Given the description of an element on the screen output the (x, y) to click on. 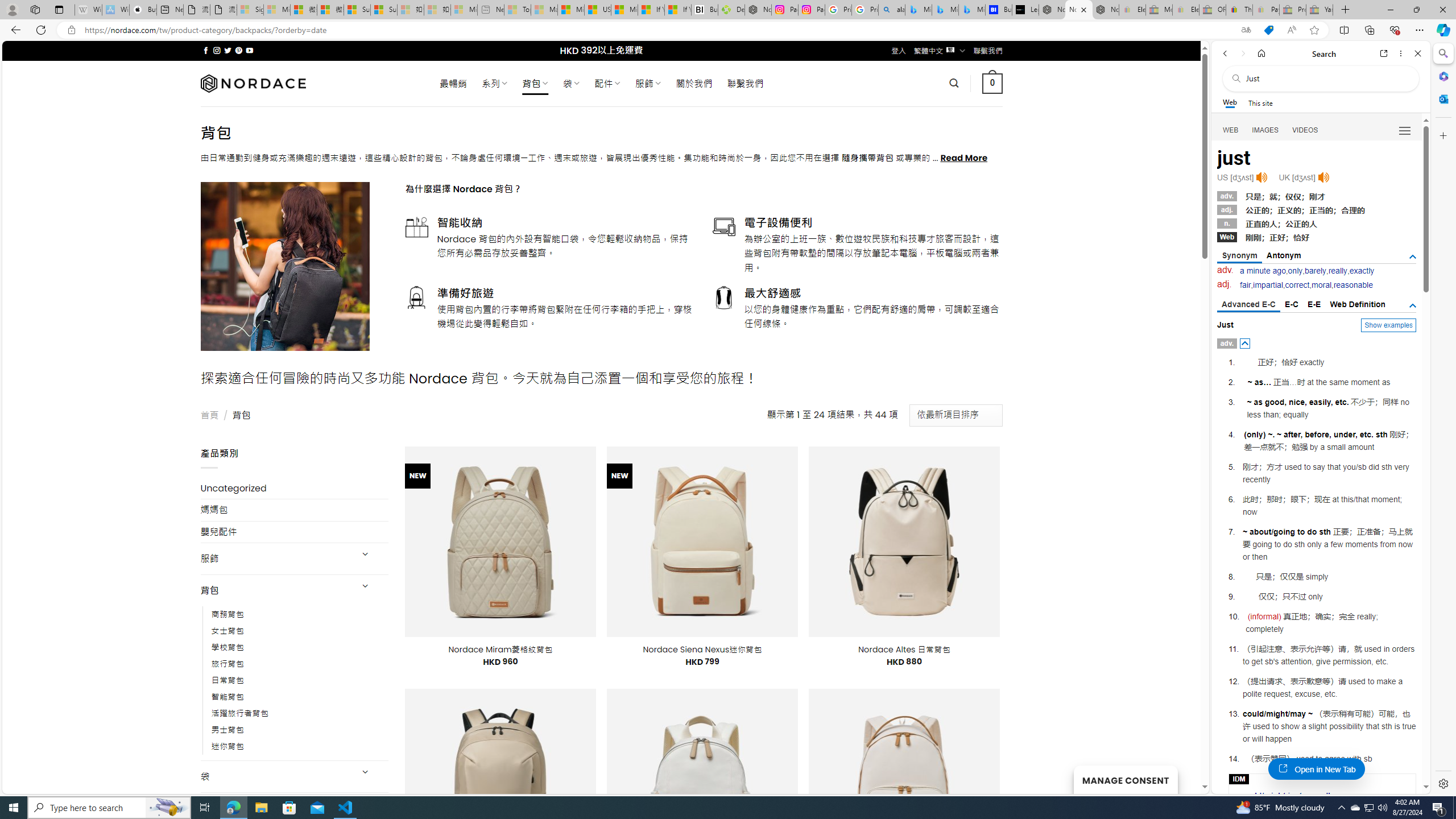
Follow on Twitter (227, 50)
only (1295, 270)
barely (1315, 270)
